Given the description of an element on the screen output the (x, y) to click on. 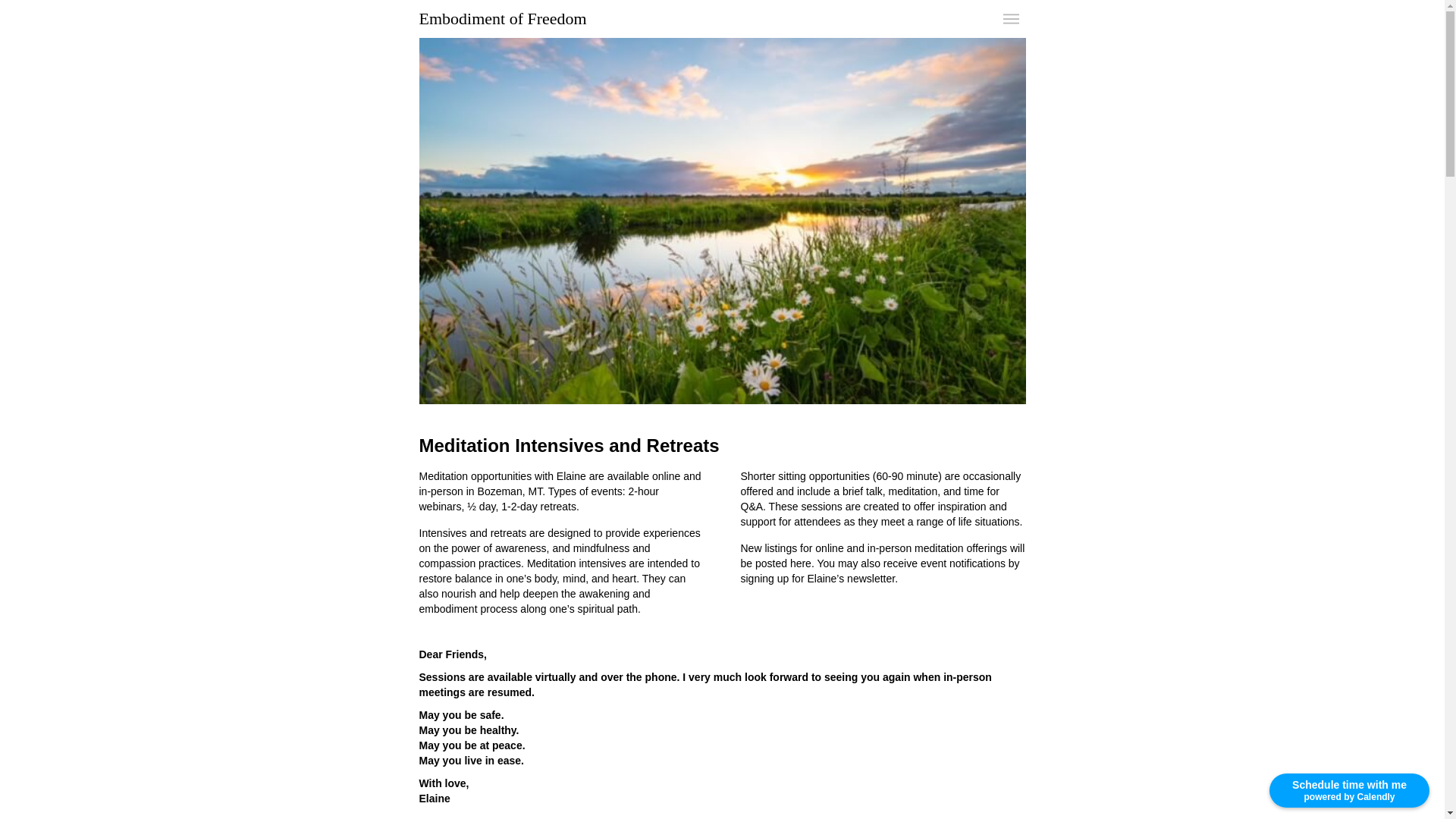
Embodiment of Freedom (502, 18)
